Given the description of an element on the screen output the (x, y) to click on. 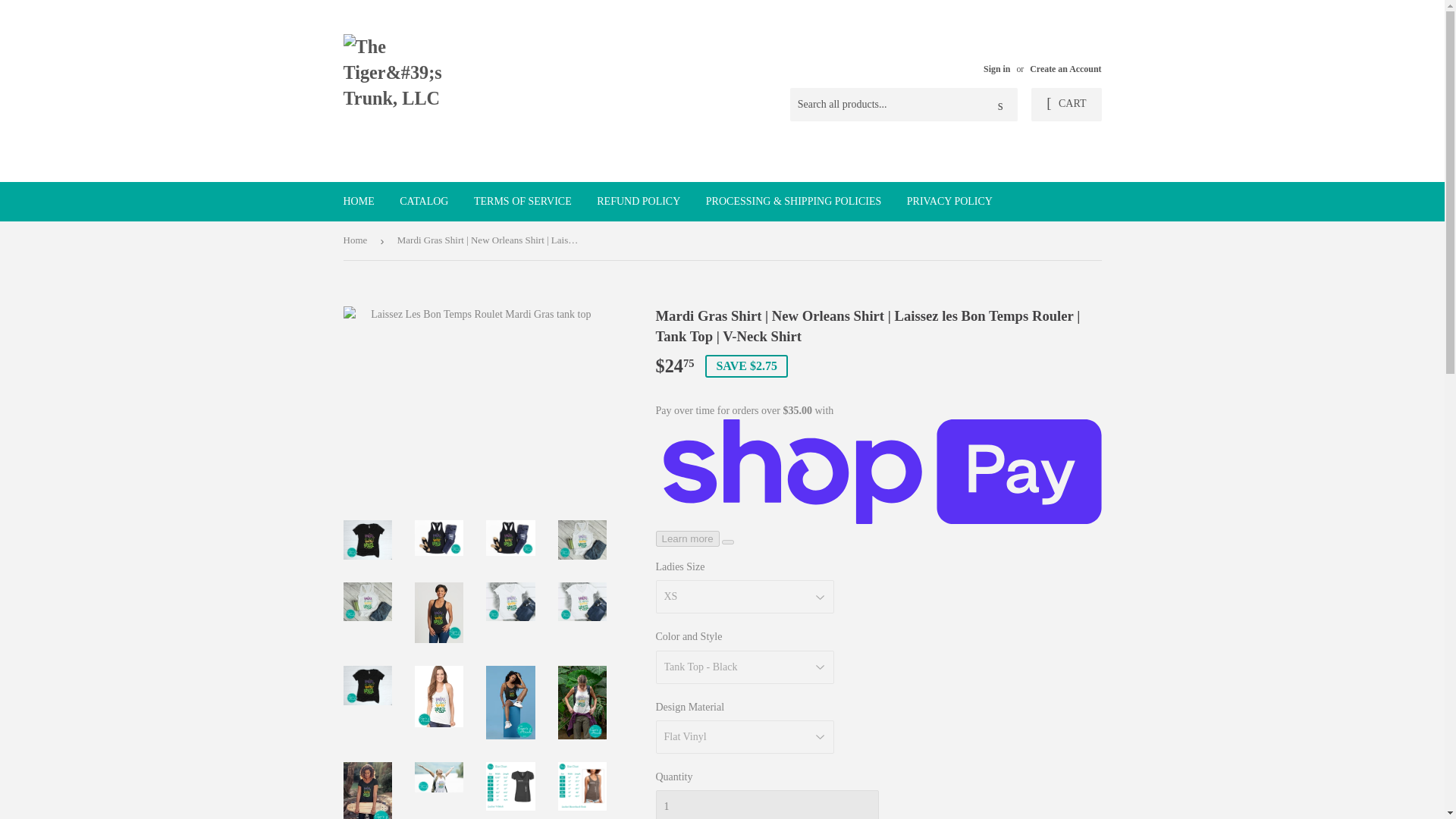
PRIVACY POLICY (949, 201)
REFUND POLICY (638, 201)
Search (1000, 105)
CART (1065, 104)
Sign in (997, 68)
TERMS OF SERVICE (523, 201)
Create an Account (1064, 68)
CATALOG (424, 201)
HOME (358, 201)
1 (766, 804)
